Given the description of an element on the screen output the (x, y) to click on. 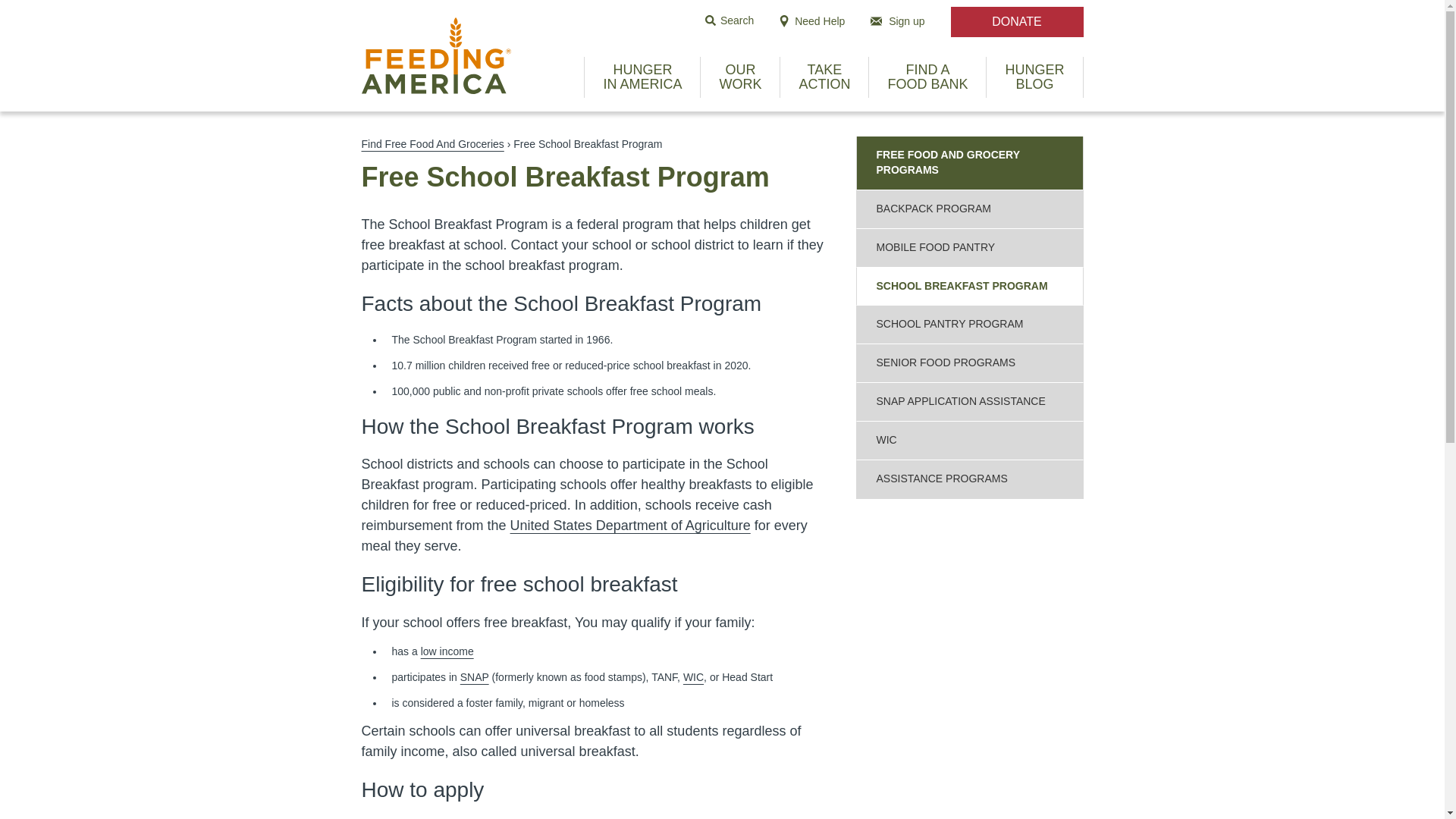
DONATE (1016, 21)
Find Free Food And Groceries (927, 76)
low income (823, 76)
United States Department of Agriculture (432, 143)
